Given the description of an element on the screen output the (x, y) to click on. 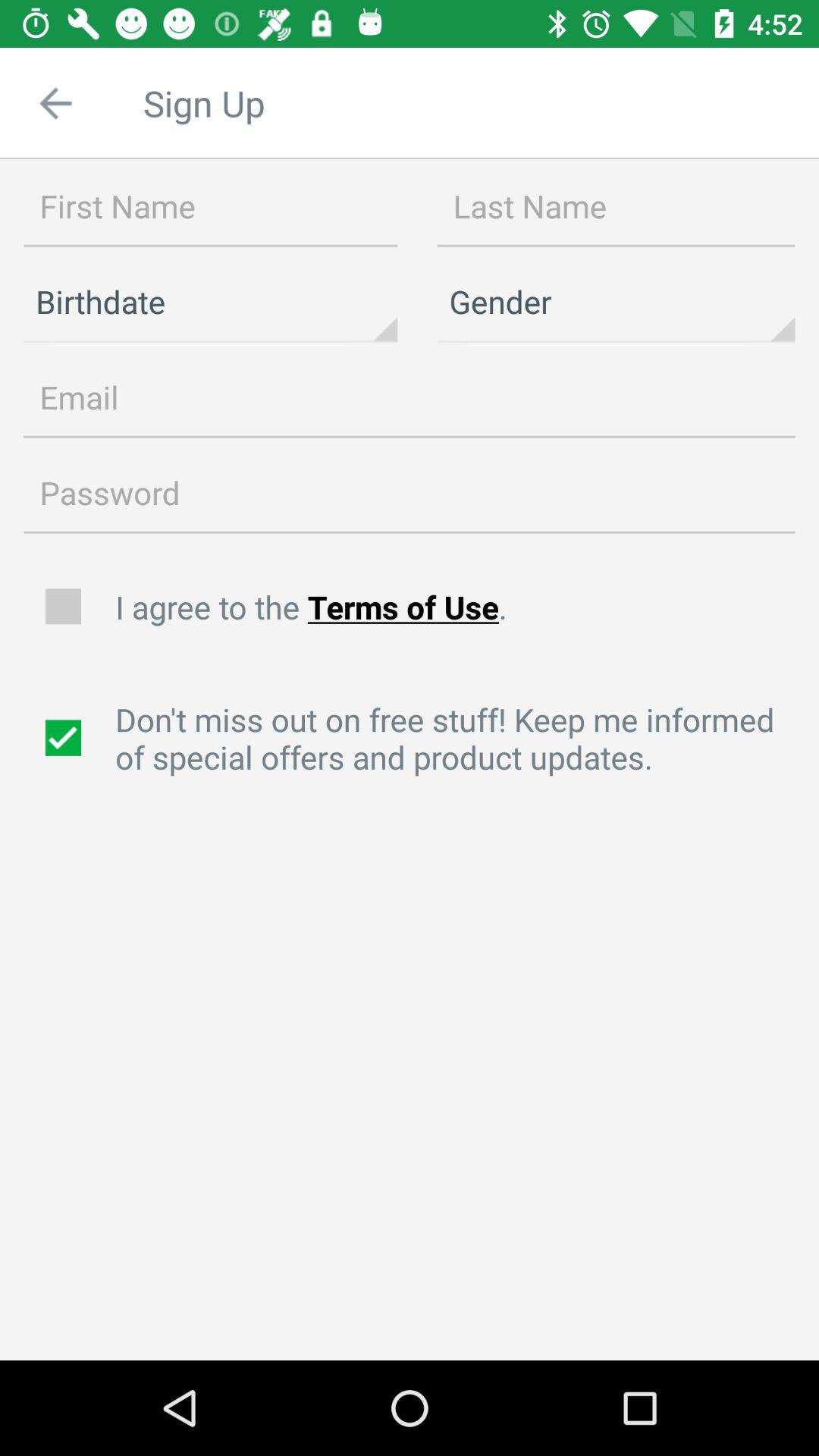
select i agree to (459, 606)
